Given the description of an element on the screen output the (x, y) to click on. 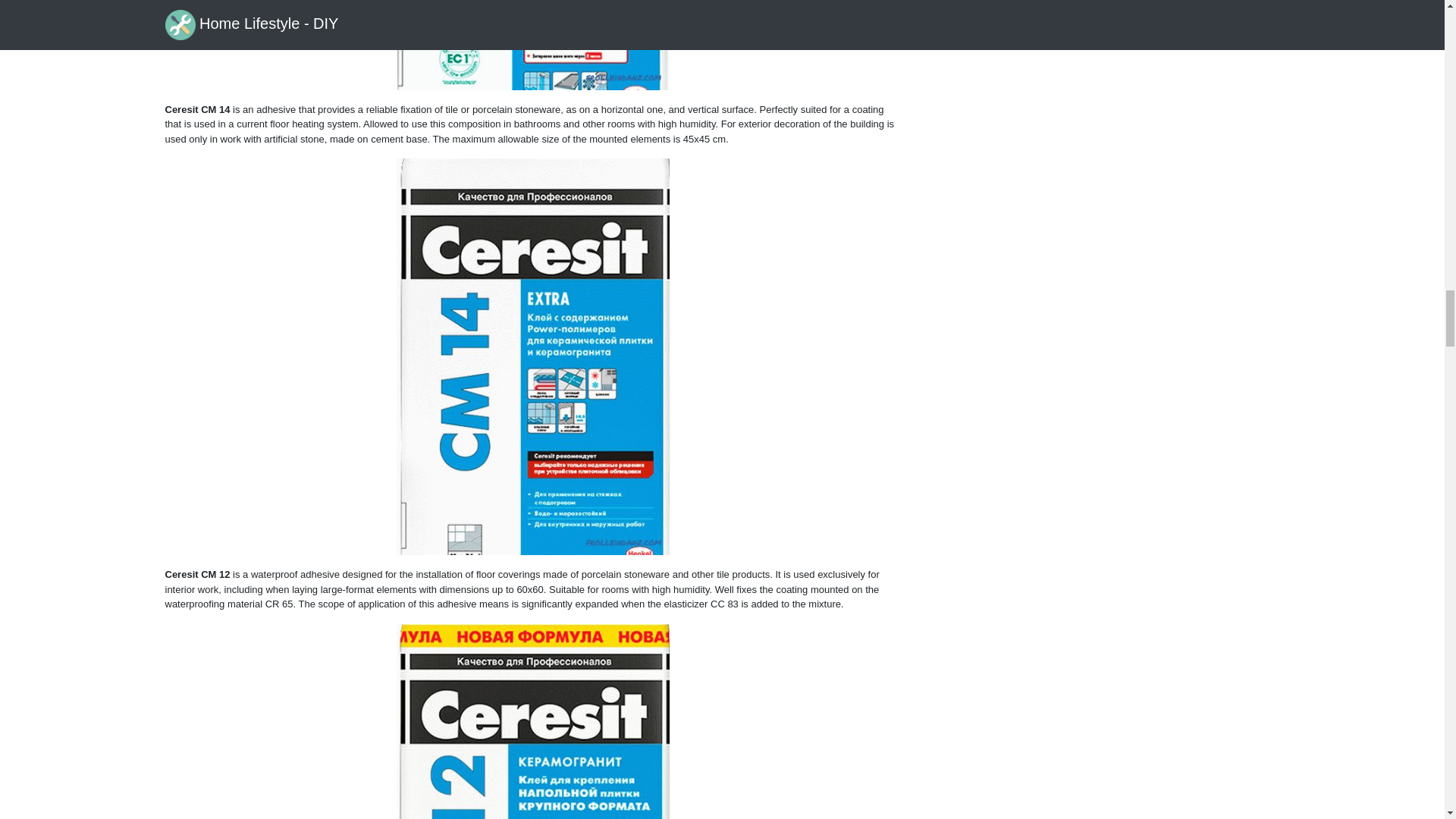
Glue for porcelain tiles - which one is better to choose (532, 45)
Glue for porcelain tiles - which one is better to choose (532, 721)
